Given the description of an element on the screen output the (x, y) to click on. 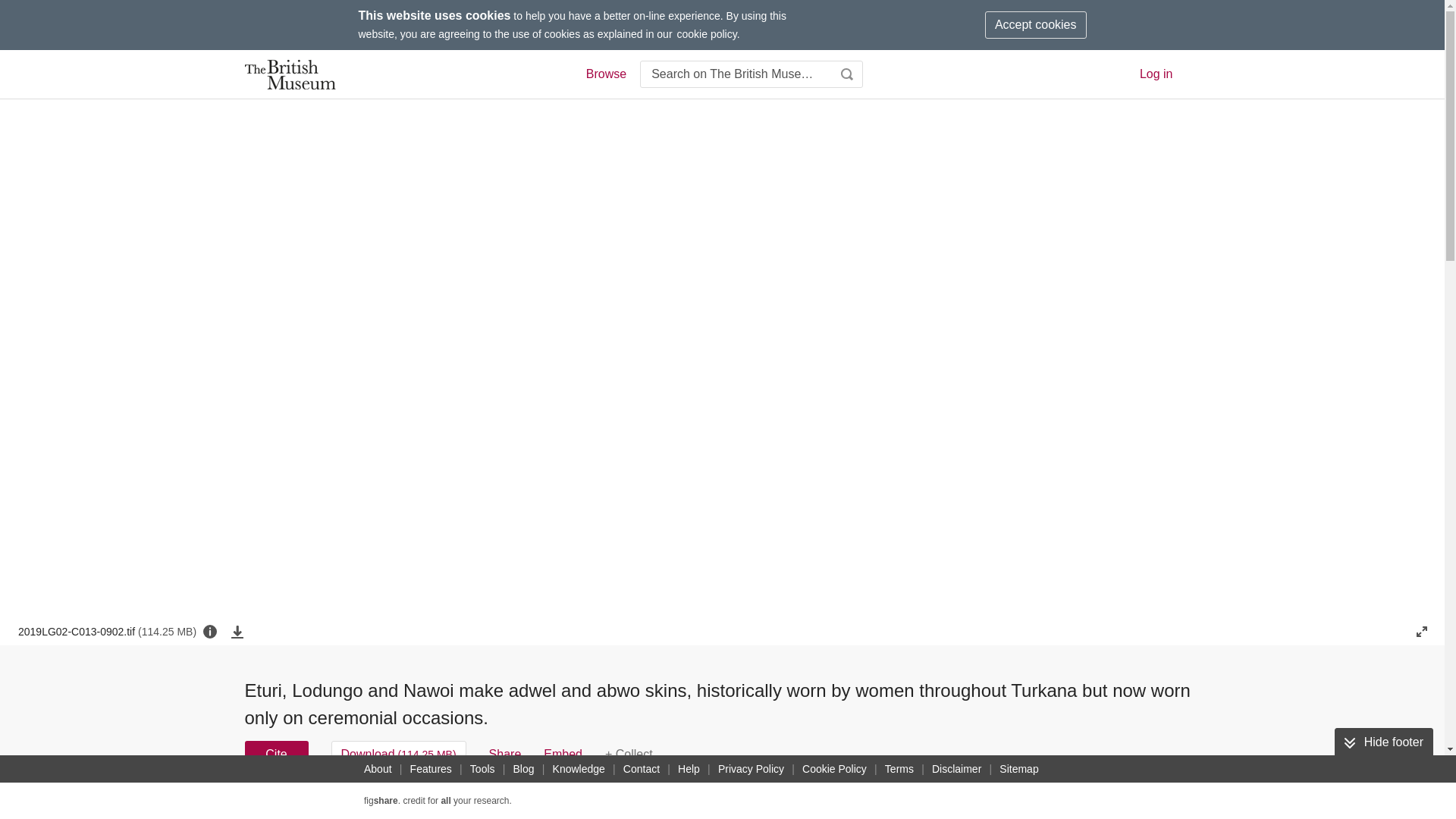
Share (505, 754)
Browse (605, 74)
Blog (523, 769)
Hide footer (1383, 742)
Log in (1156, 73)
Cite (275, 754)
About (377, 769)
Tools (482, 769)
you need to log in first (628, 754)
Features (431, 769)
Contact (640, 769)
Help (688, 769)
2019LG02-C013-0902.tif (106, 631)
Accept cookies (1035, 24)
cookie policy (706, 33)
